Given the description of an element on the screen output the (x, y) to click on. 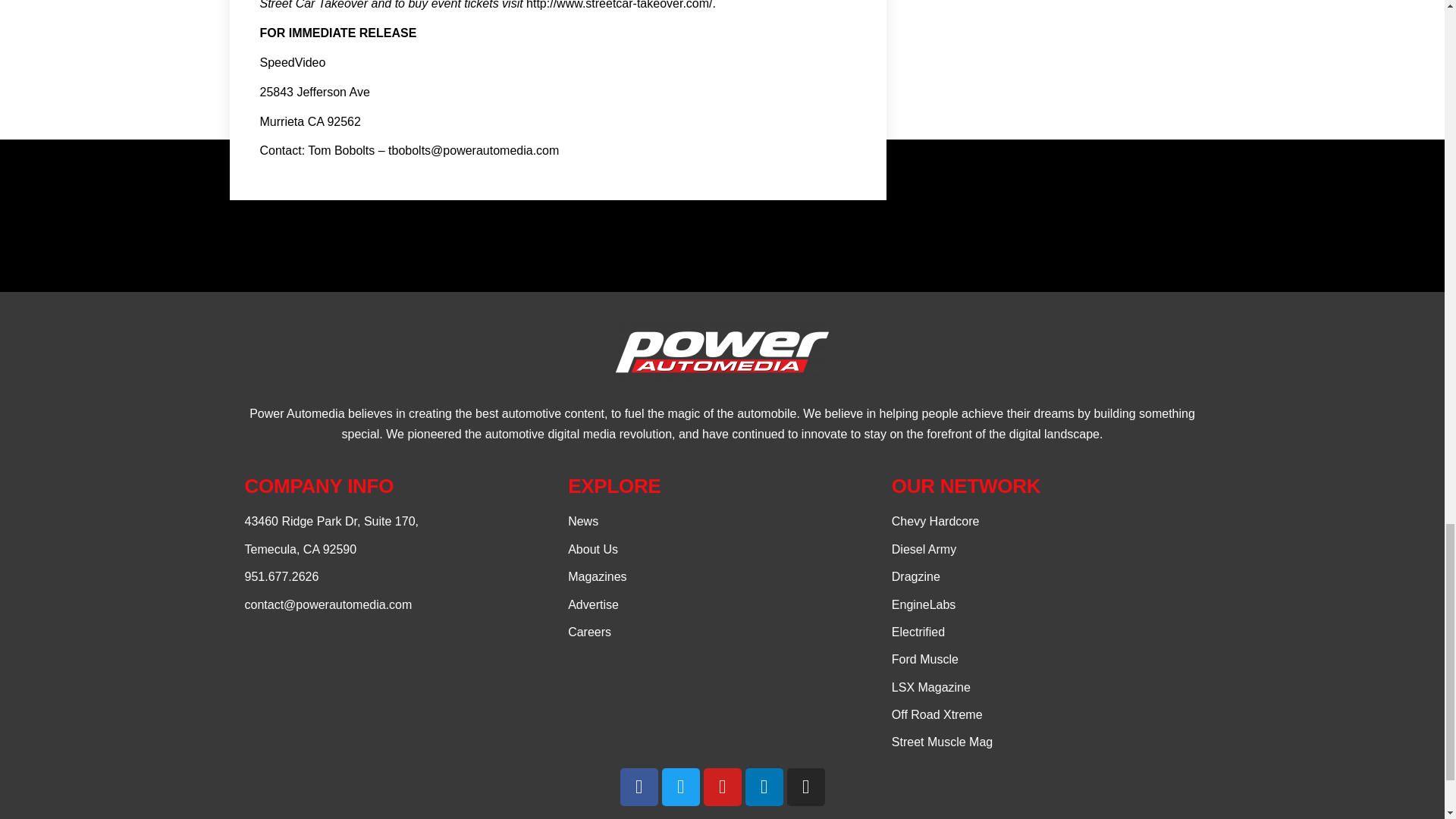
PAM-Logo (721, 352)
